Given the description of an element on the screen output the (x, y) to click on. 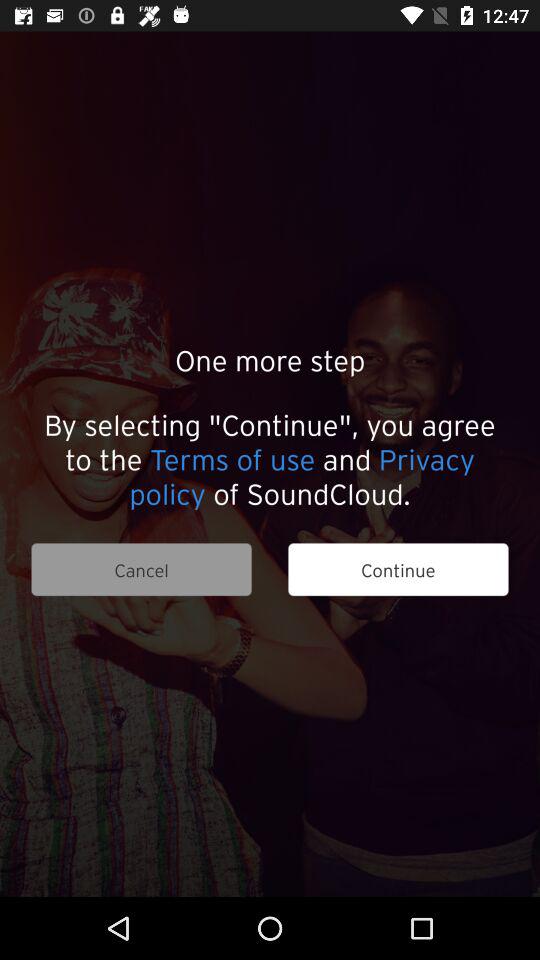
tap the by selecting continue icon (269, 457)
